Given the description of an element on the screen output the (x, y) to click on. 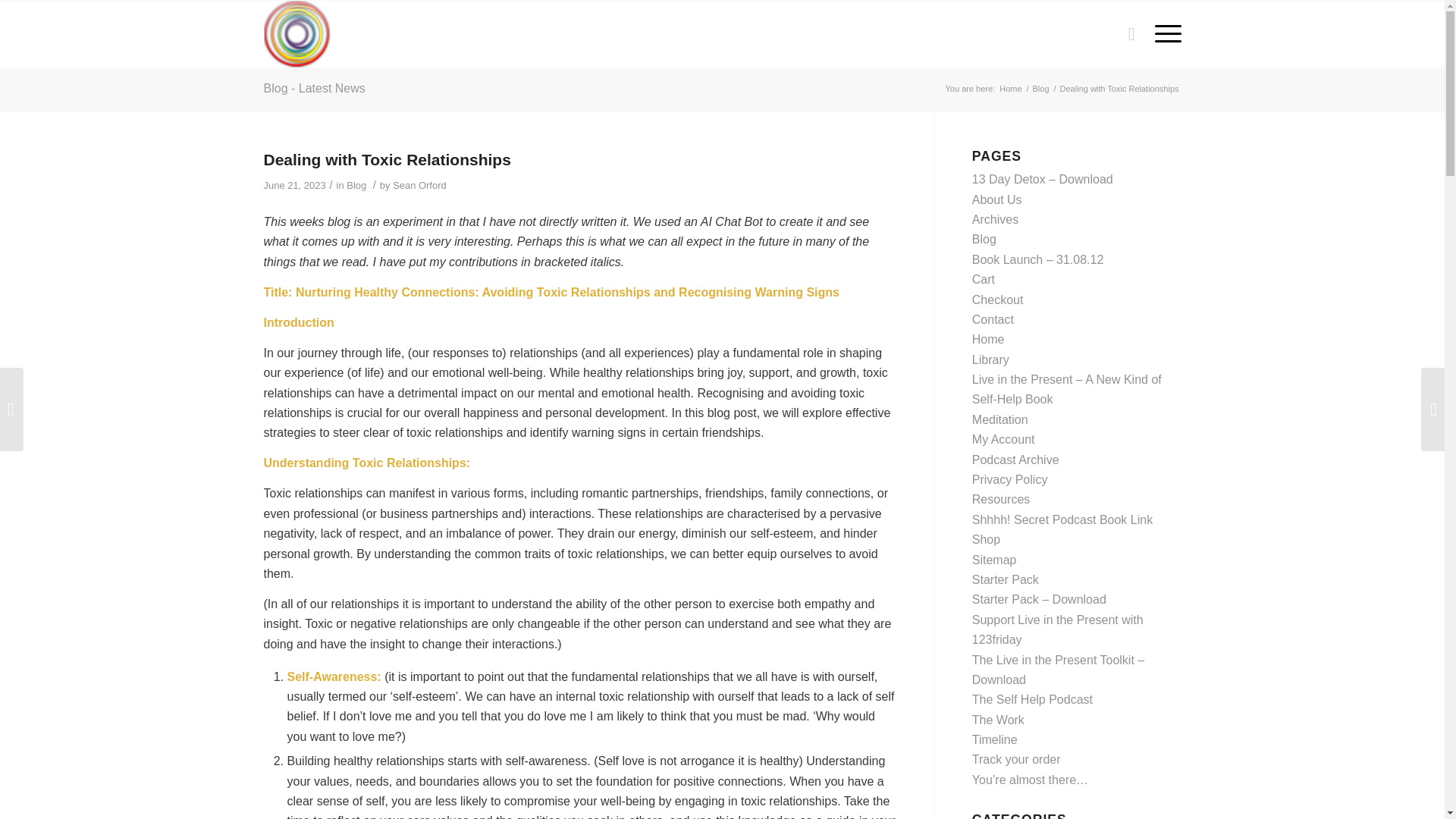
Cart (983, 278)
Blog (1040, 89)
Archives (994, 219)
Live in the Present (1010, 89)
Home (988, 338)
Permanent Link: Dealing with Toxic Relationships (387, 159)
Dealing with Toxic Relationships (387, 159)
Permanent Link: Blog - Latest News (314, 88)
Checkout (997, 298)
Sean Orford (419, 184)
Library (990, 359)
My Account (1003, 439)
Posts by Sean Orford (419, 184)
Blog - Latest News (314, 88)
Blog (983, 238)
